Given the description of an element on the screen output the (x, y) to click on. 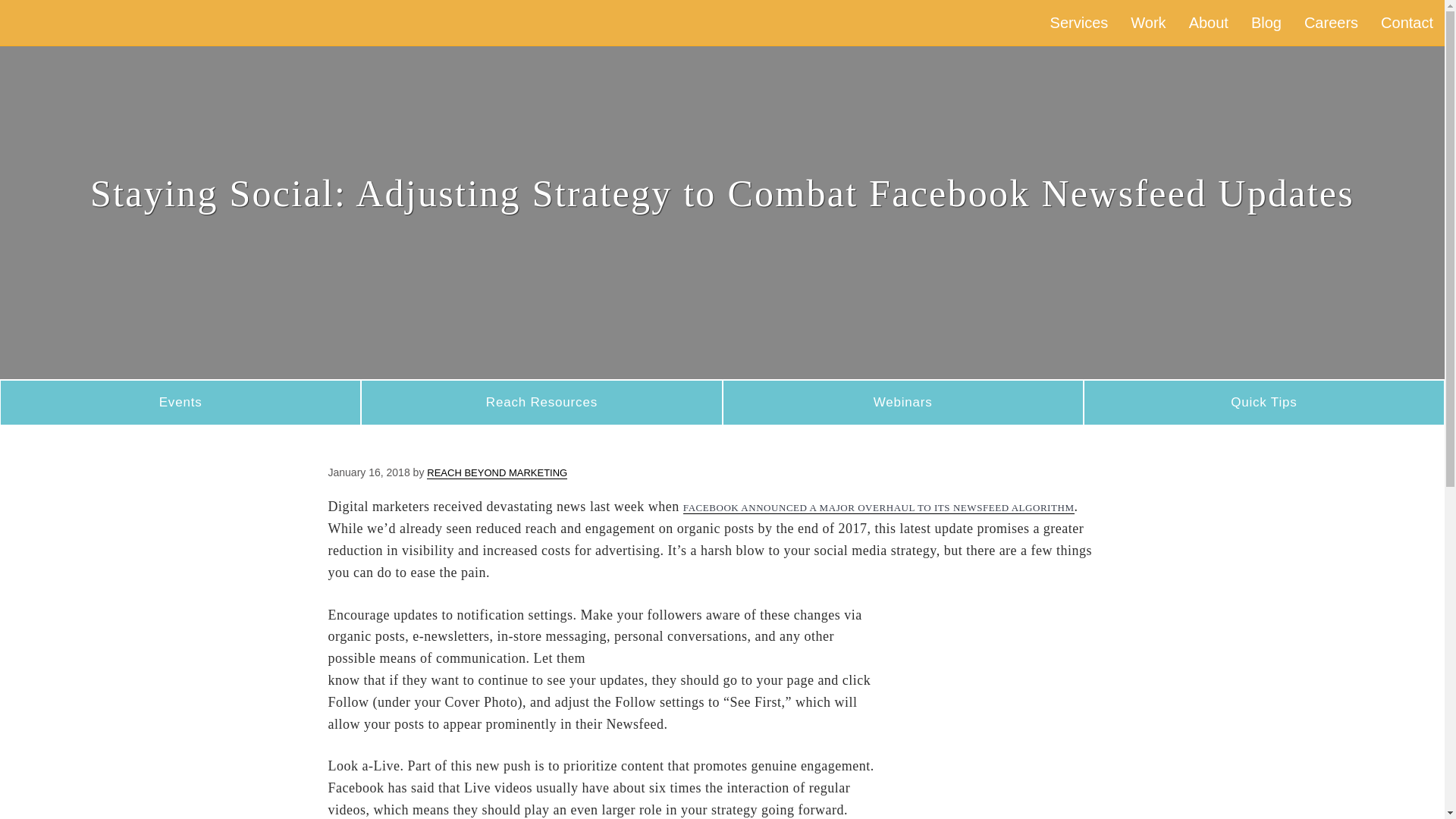
Work (1147, 22)
REACH BEYOND MARKETING (496, 472)
Careers (1331, 22)
About (1208, 22)
Blog (1266, 22)
Services (1079, 22)
